Given the description of an element on the screen output the (x, y) to click on. 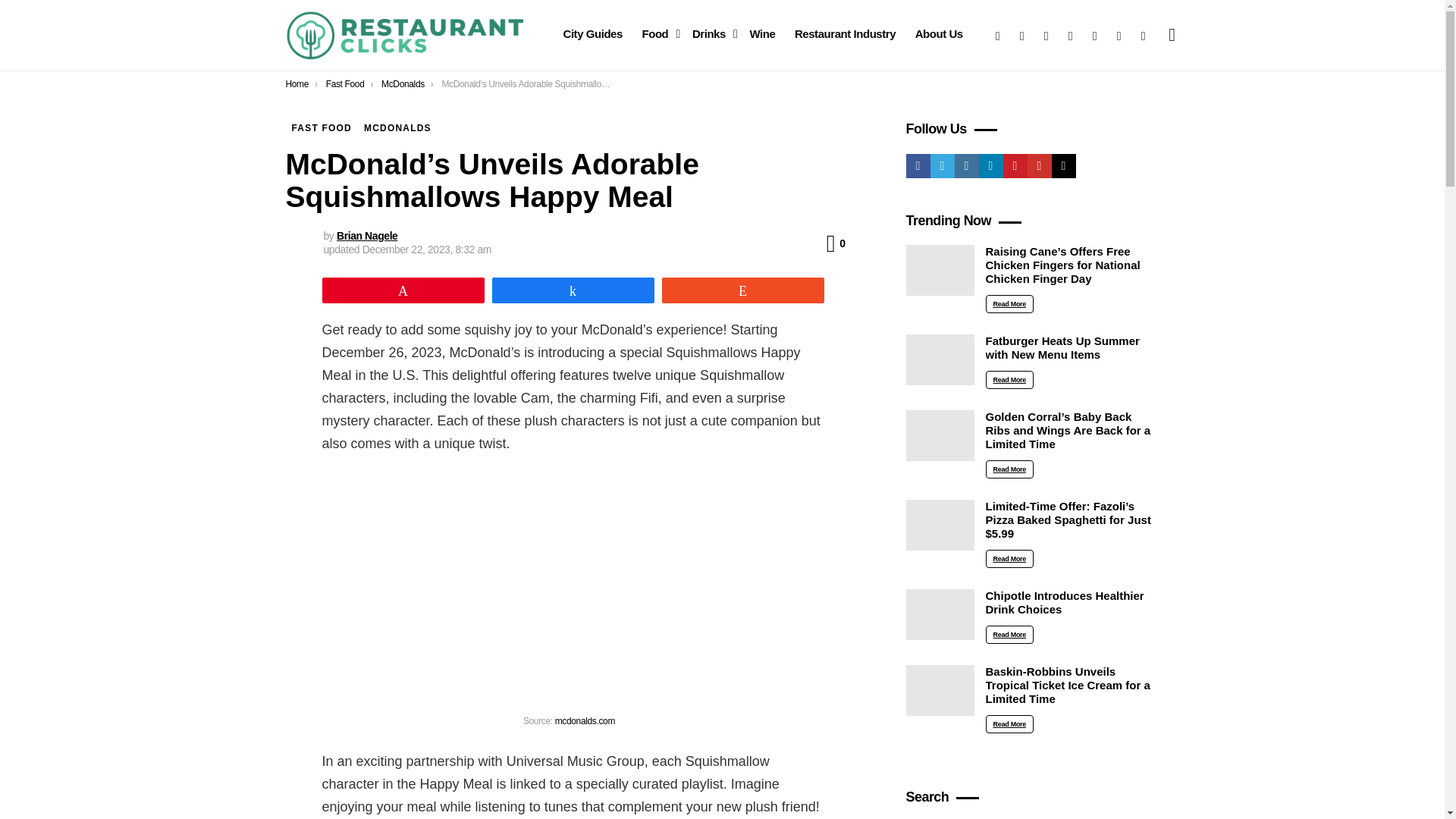
Posts by Brian Nagele (366, 235)
mcdonalds.com (584, 720)
Home (296, 83)
Wine (762, 33)
City Guides (591, 33)
twitter (1021, 34)
MCDONALDS (398, 127)
linkedin (1070, 34)
facebook (997, 34)
instagram (1045, 34)
Brian Nagele (366, 235)
Food (656, 33)
tiktok (1143, 34)
youtube (1118, 34)
